Given the description of an element on the screen output the (x, y) to click on. 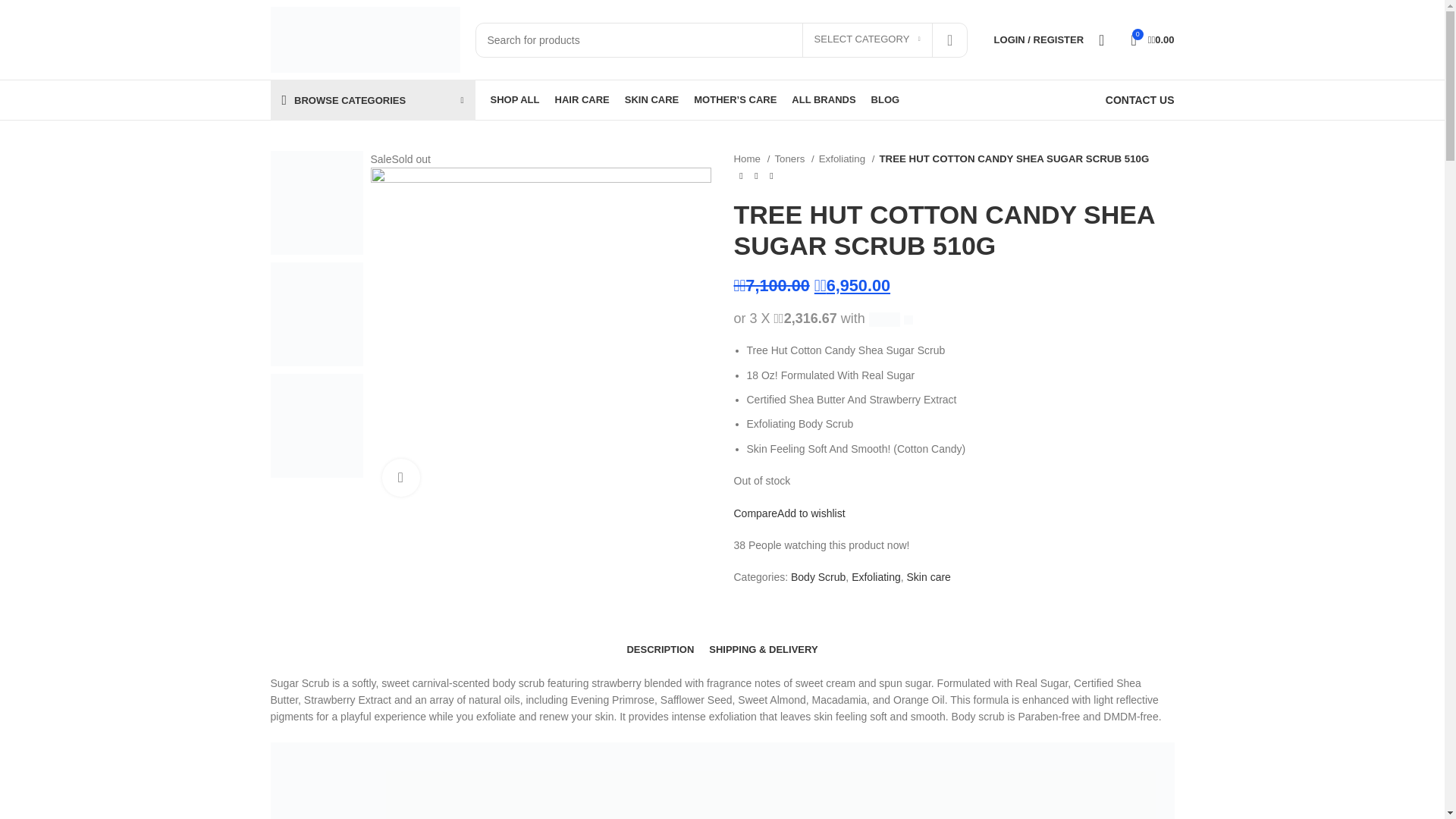
My account (1038, 39)
SELECT CATEGORY (867, 39)
SELECT CATEGORY (867, 39)
Shopping cart (1151, 39)
Search for products (720, 39)
My Wishlist (1106, 39)
